Given the description of an element on the screen output the (x, y) to click on. 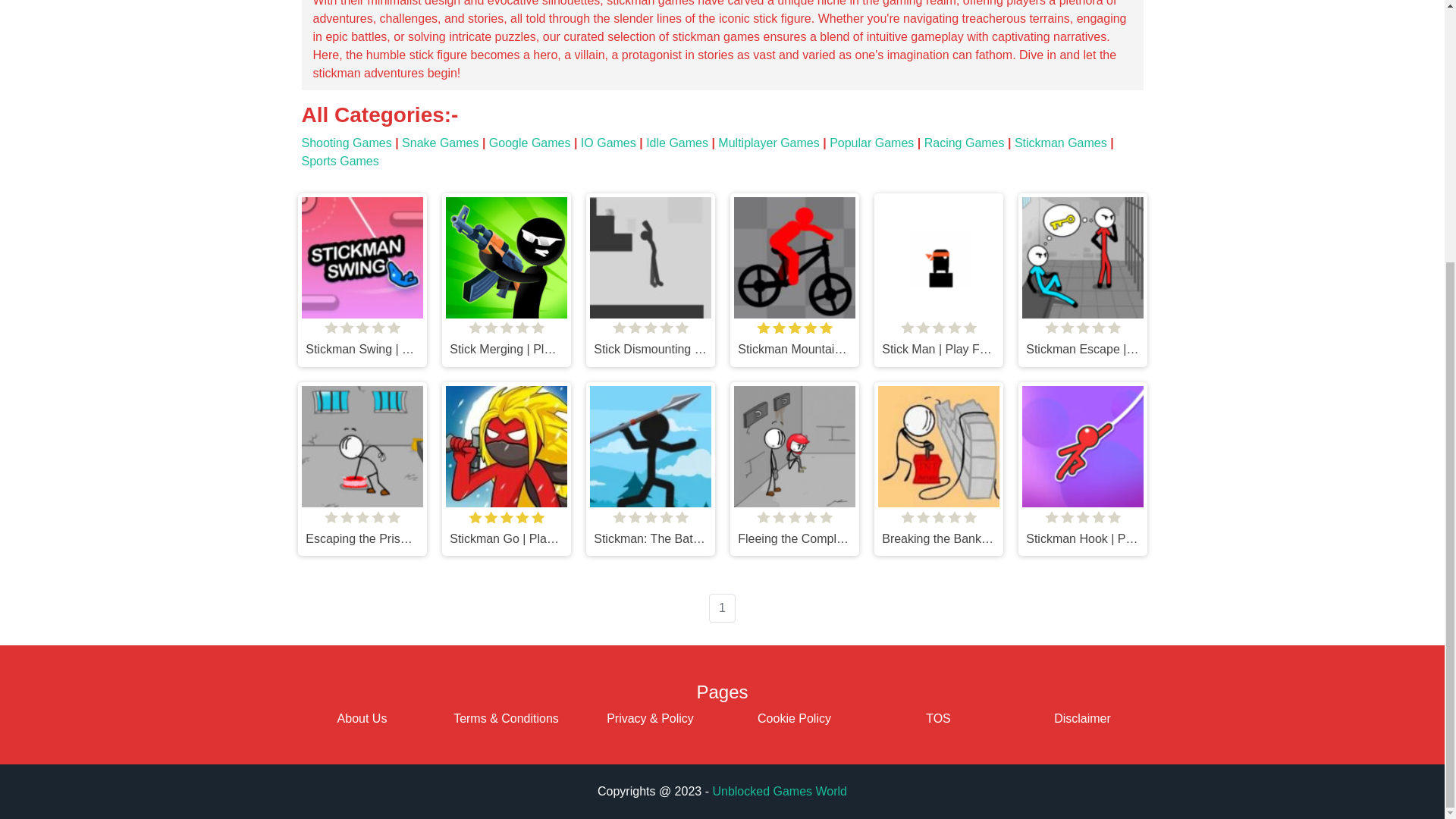
Sports Games (339, 160)
Snake Games (440, 142)
Multiplayer Games (767, 142)
IO Games (608, 142)
Google Games (529, 142)
Stickman Games (1060, 142)
Racing Games (964, 142)
Idle Games (676, 142)
Shooting Games (346, 142)
Popular Games (871, 142)
